Given the description of an element on the screen output the (x, y) to click on. 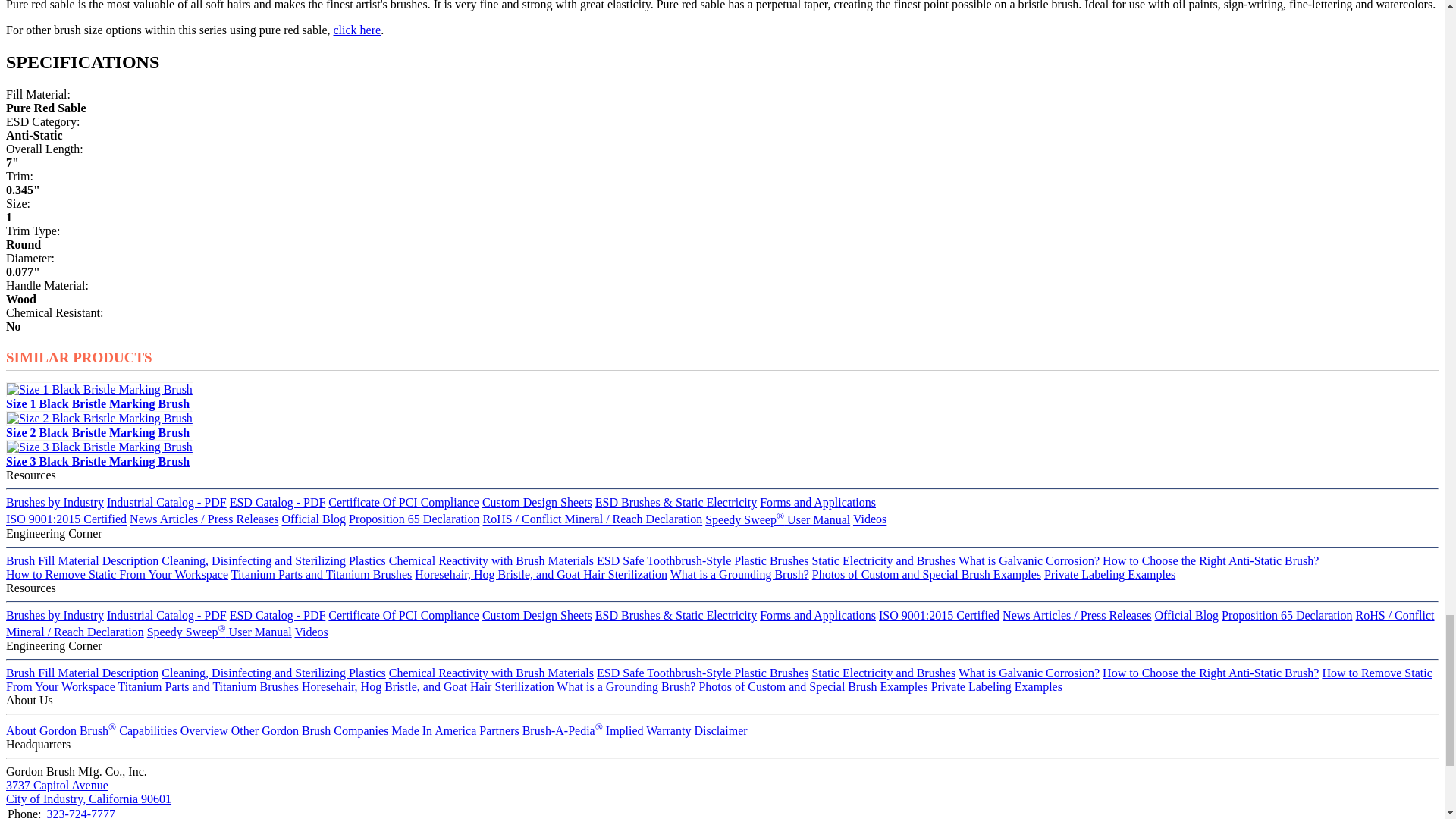
Size 2 Black Bristle Marking Brush (99, 418)
Size 3 Black Bristle Marking Brush (99, 447)
Size 1 Black Bristle Marking Brush (99, 389)
